Given the description of an element on the screen output the (x, y) to click on. 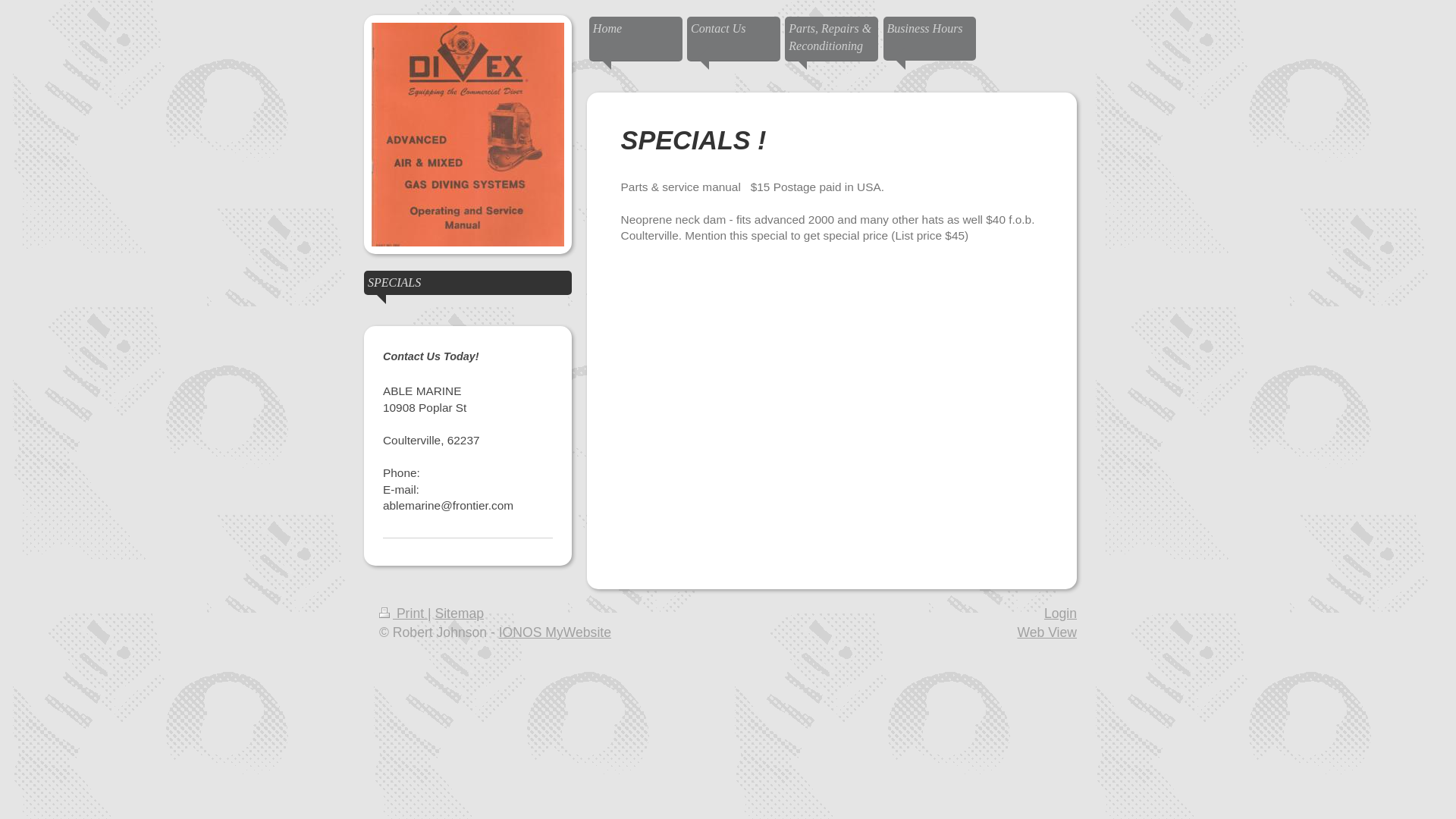
IONOS MyWebsite Element type: text (554, 632)
Sitemap Element type: text (458, 613)
Login Element type: text (1060, 613)
Web View Element type: text (1046, 632)
Print Element type: text (403, 613)
Parts, Repairs & Reconditioning Element type: text (831, 38)
Business Hours Element type: text (929, 38)
Contact Us Element type: text (733, 38)
SPECIALS Element type: text (467, 282)
Home Element type: text (635, 38)
